Given the description of an element on the screen output the (x, y) to click on. 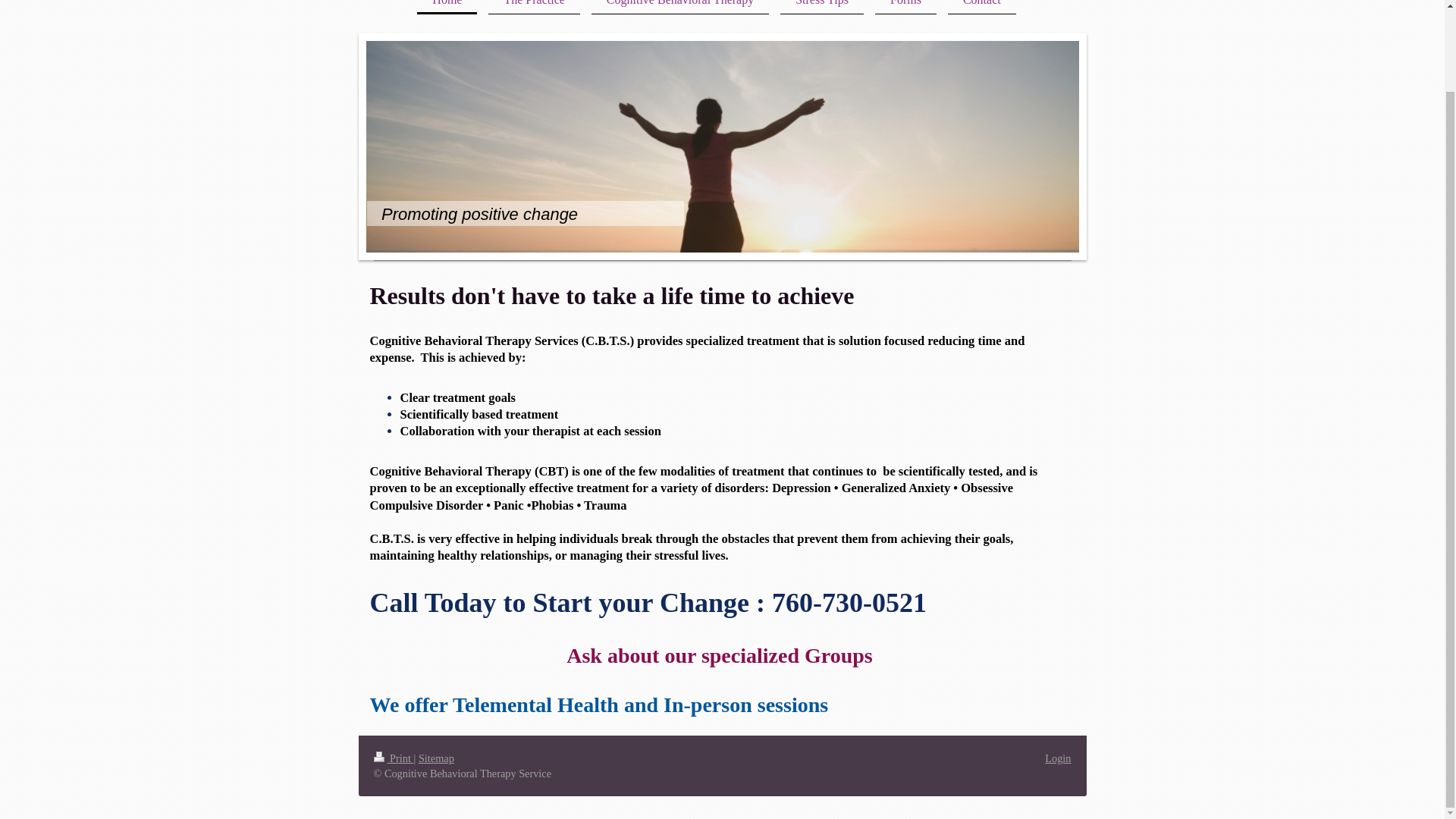
Print (392, 758)
Login (1057, 758)
Sitemap (436, 758)
Home (446, 7)
Promoting positive change (478, 213)
Stress Tips (821, 7)
Forms (905, 7)
The Practice (533, 7)
Contact (981, 7)
Cognitive Behavioral Therapy (679, 7)
